Given the description of an element on the screen output the (x, y) to click on. 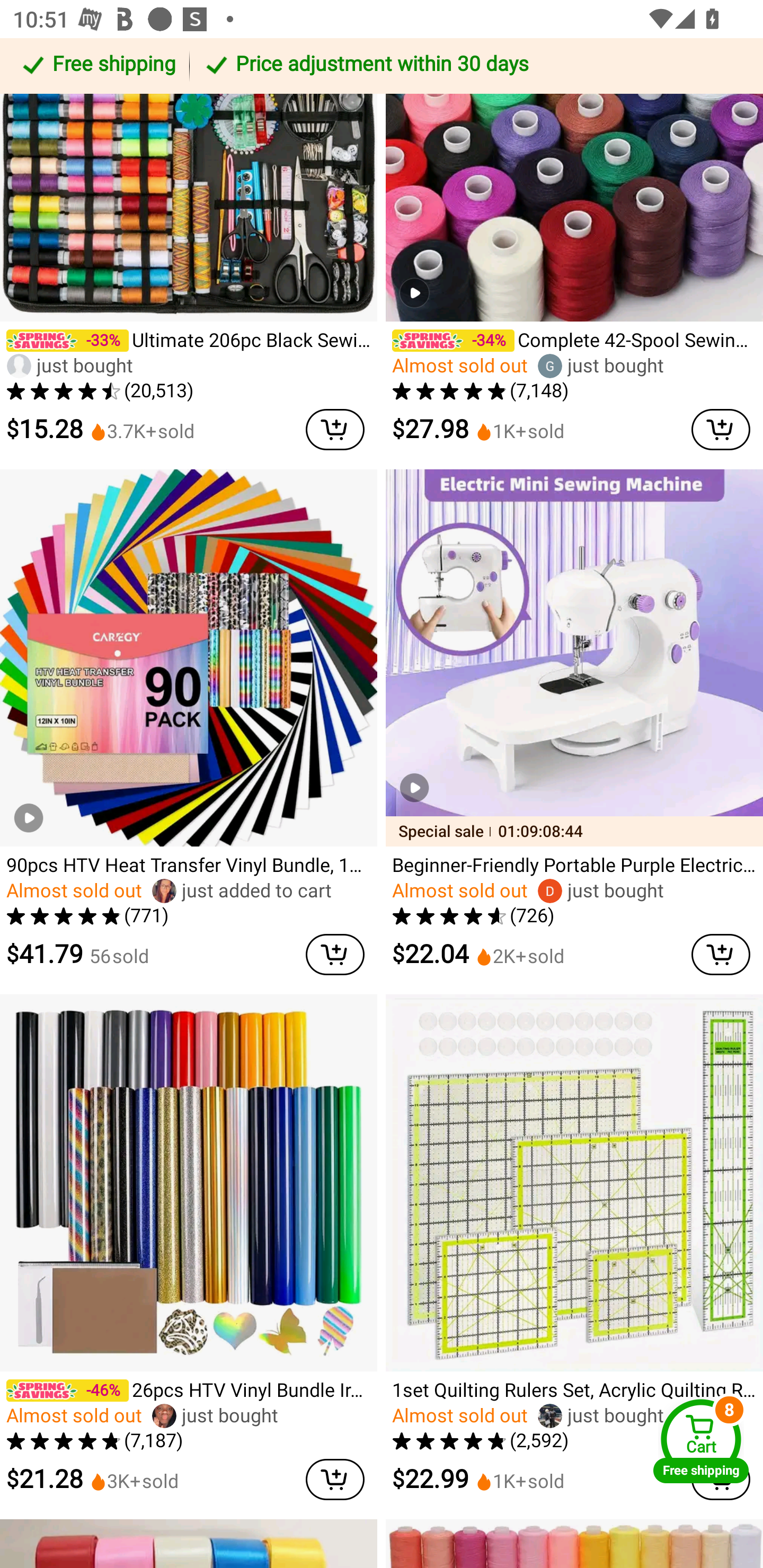
Free shipping (97, 65)
Price adjustment within 30 days (472, 65)
cart delete (334, 429)
cart delete (720, 429)
cart delete (334, 954)
cart delete (720, 954)
Cart Free shipping Cart (701, 1440)
cart delete (334, 1479)
